Given the description of an element on the screen output the (x, y) to click on. 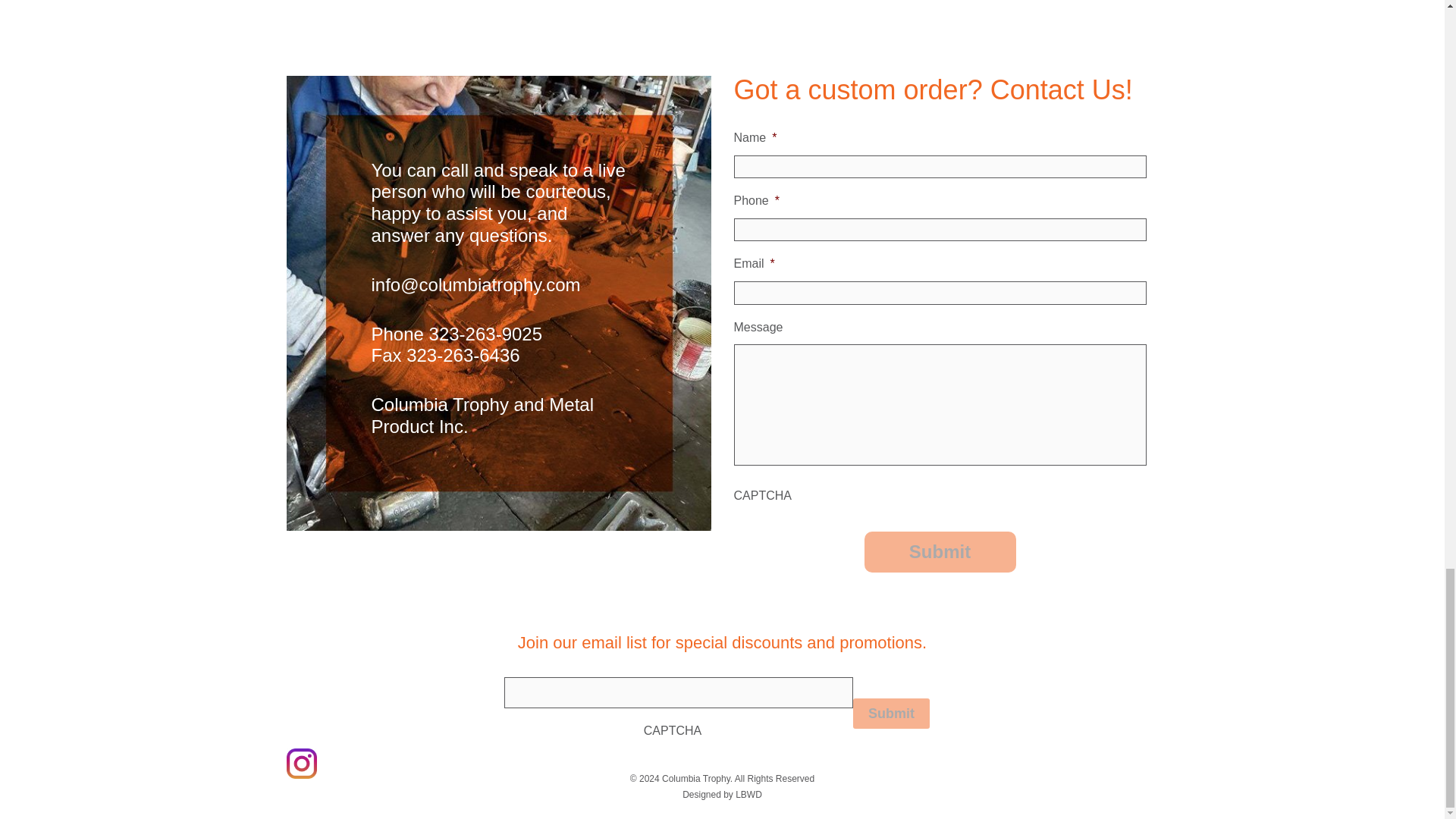
Submit (940, 551)
Submit (891, 713)
Columbia Trophy (737, 778)
